Given the description of an element on the screen output the (x, y) to click on. 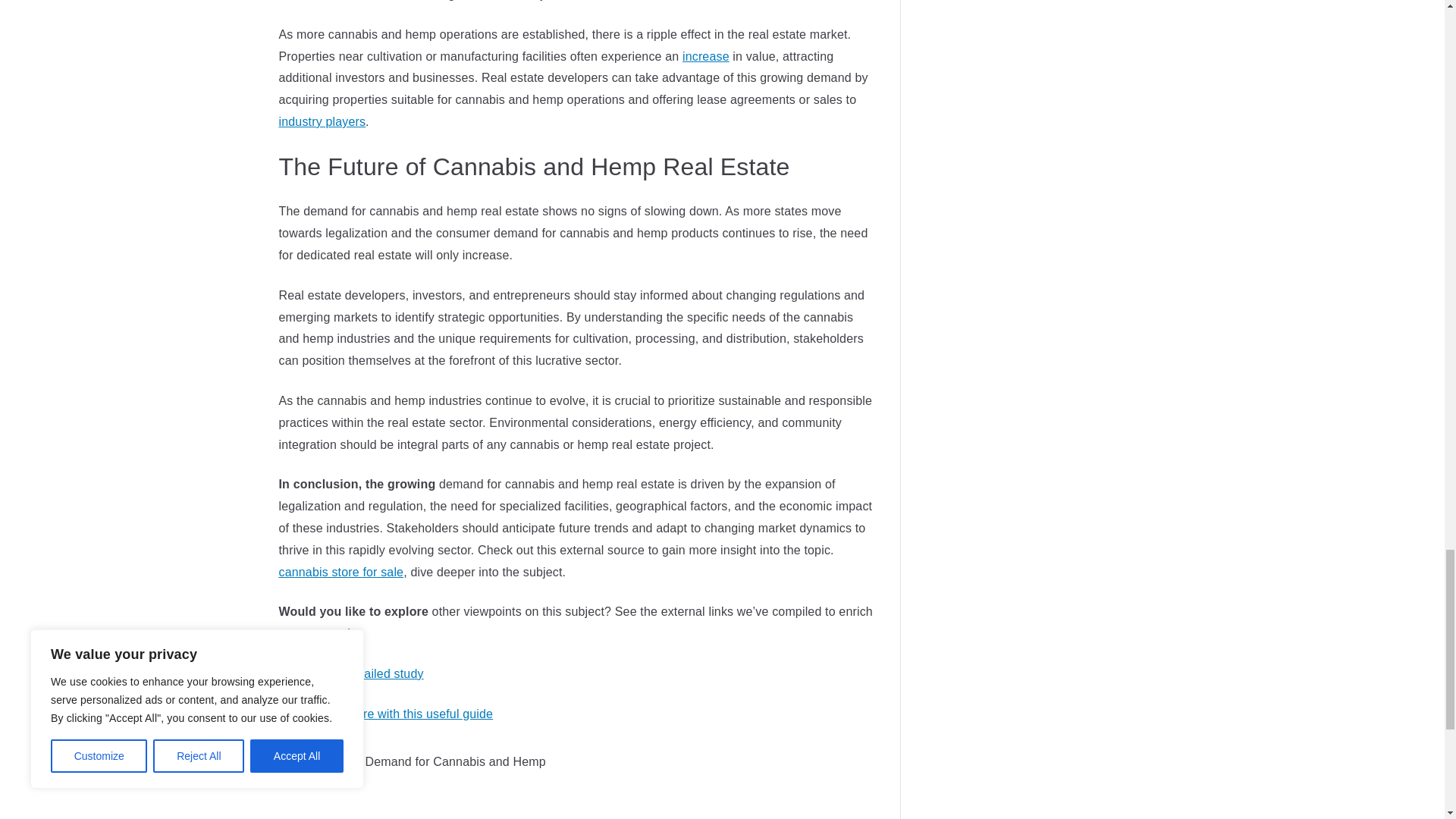
Understand more with this useful guide (386, 713)
industry players (322, 121)
cannabis store for sale (341, 571)
Explore this detailed study (351, 673)
increase (705, 56)
